Given the description of an element on the screen output the (x, y) to click on. 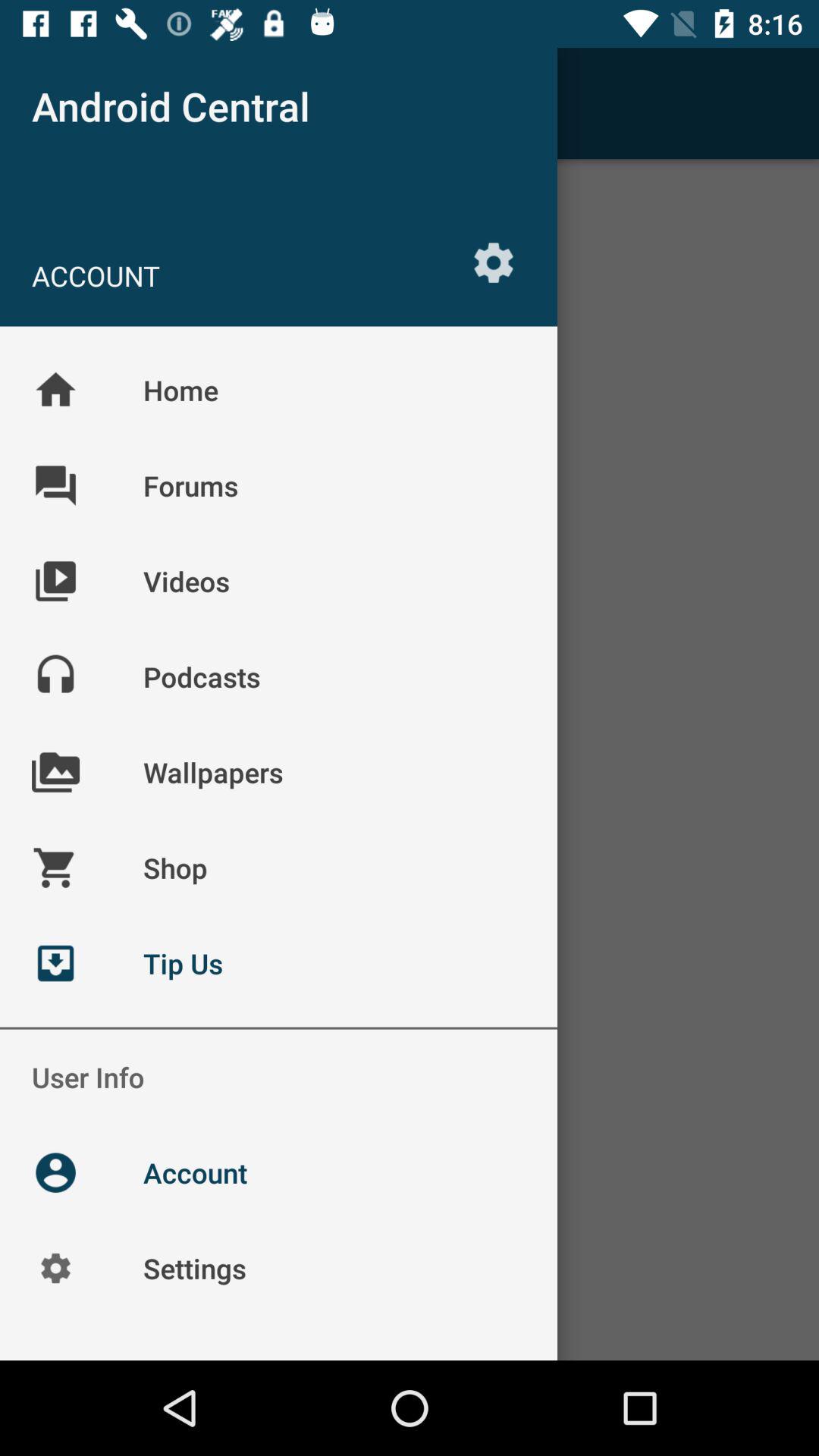
choose the item above the home (493, 262)
